Given the description of an element on the screen output the (x, y) to click on. 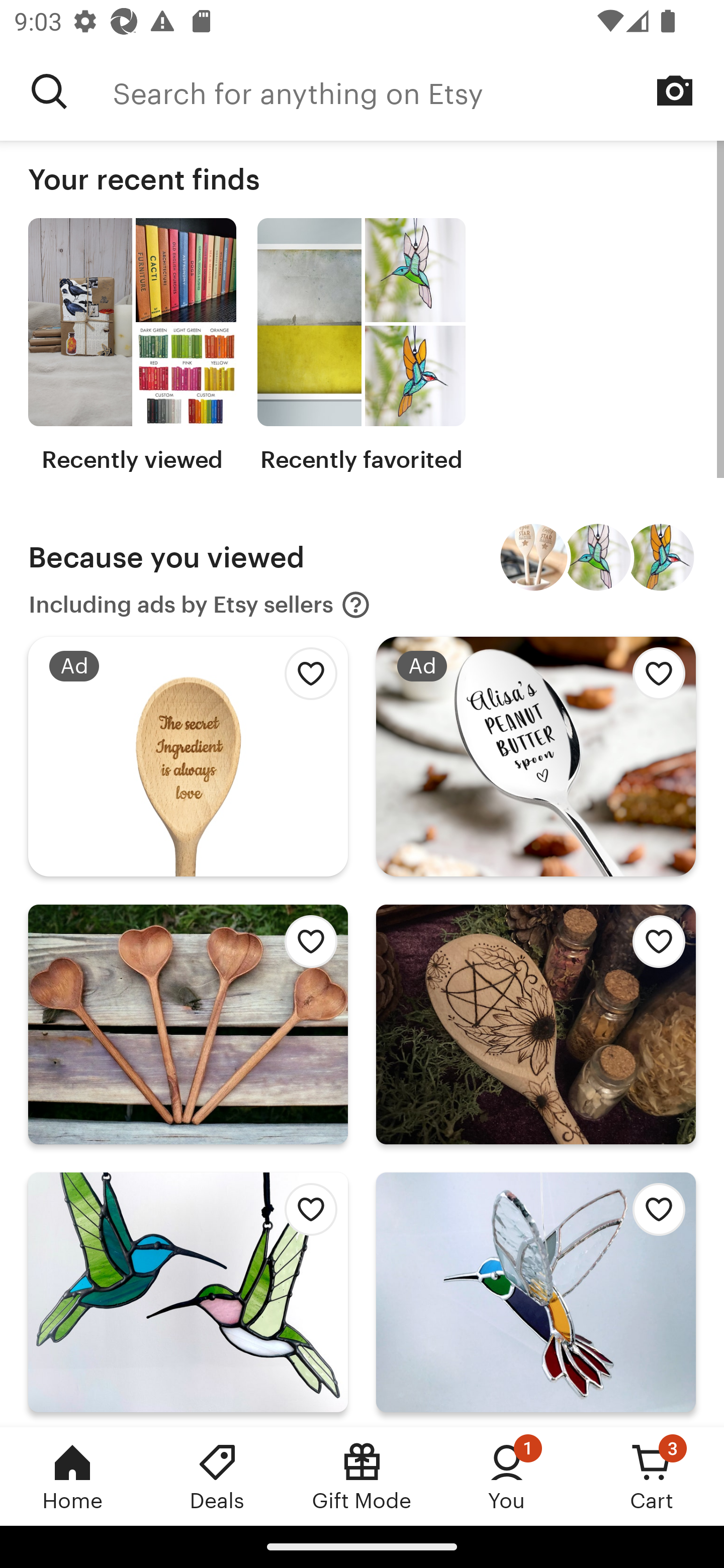
Search for anything on Etsy (49, 91)
Search by image (674, 90)
Search for anything on Etsy (418, 91)
Recently viewed (132, 345)
Recently favorited (361, 345)
Including ads by Etsy sellers (199, 604)
Deals (216, 1475)
Gift Mode (361, 1475)
You, 1 new notification You (506, 1475)
Cart, 3 new notifications Cart (651, 1475)
